Given the description of an element on the screen output the (x, y) to click on. 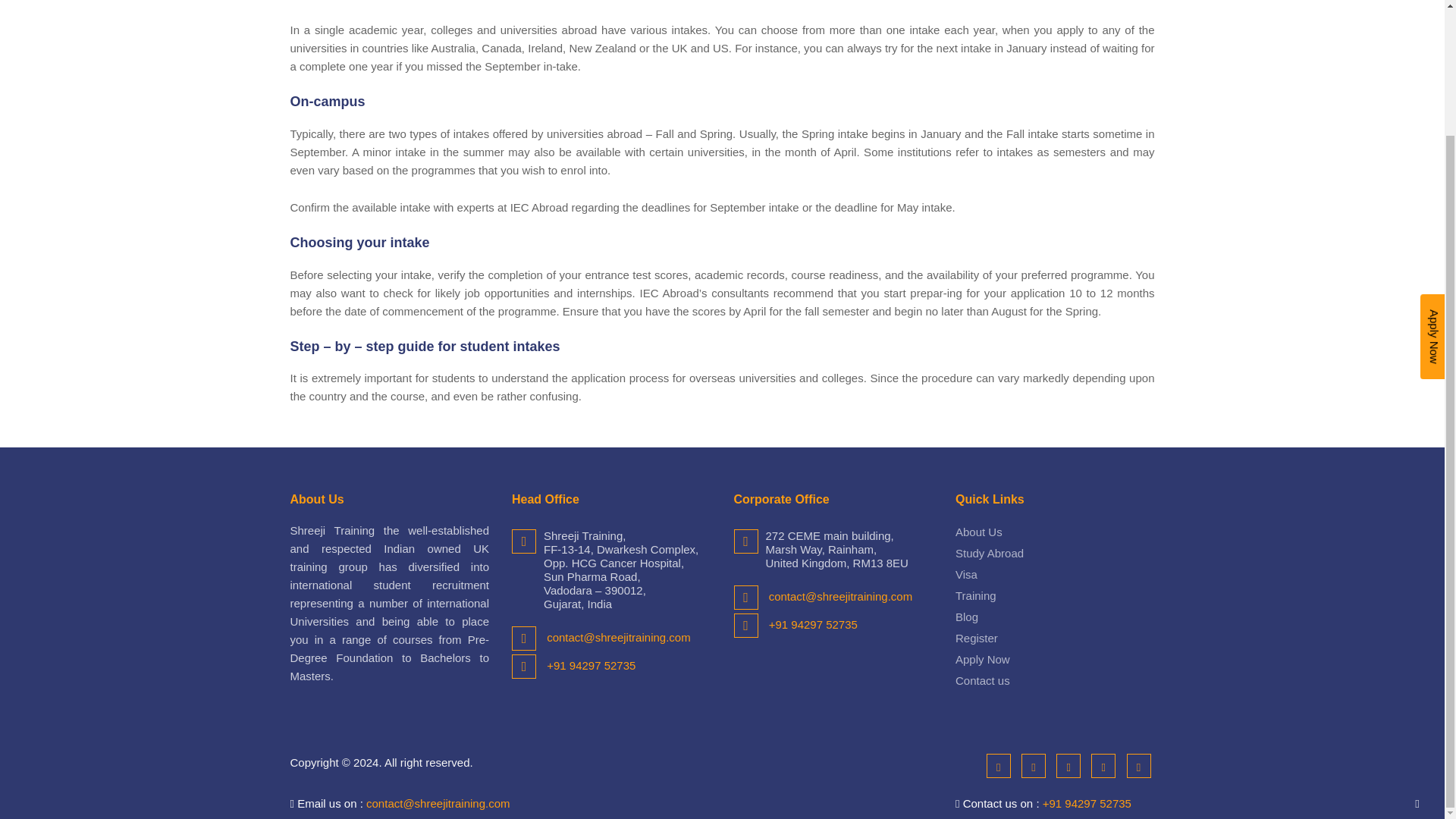
About Us (979, 531)
Contact us (982, 680)
Apply Now (982, 658)
Training (975, 594)
Visa (965, 574)
Blog (966, 616)
Register (976, 637)
Study Abroad (989, 553)
